Given the description of an element on the screen output the (x, y) to click on. 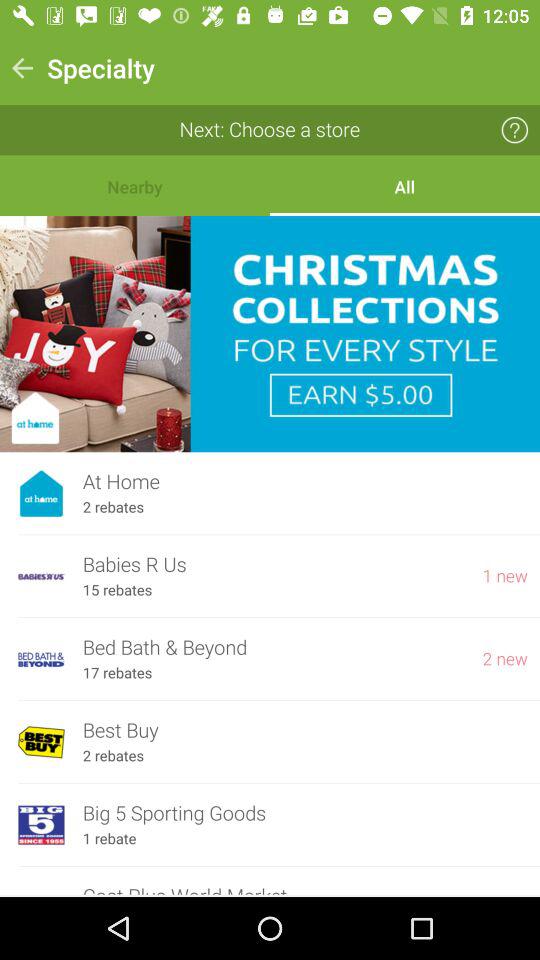
press icon to the right of bed bath & beyond icon (505, 659)
